Given the description of an element on the screen output the (x, y) to click on. 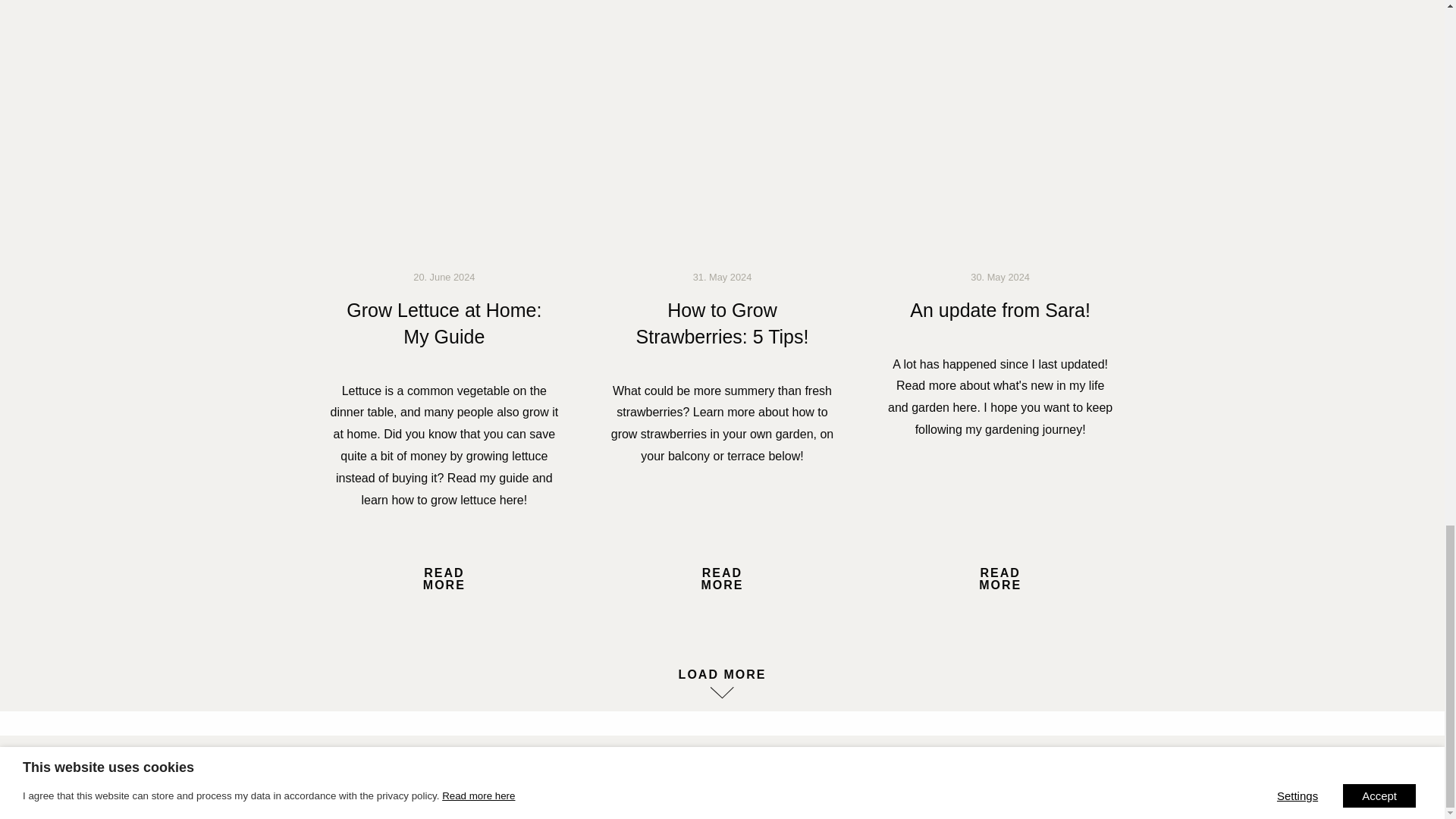
PODCAST (1034, 776)
LOAD MORE (721, 674)
YOUTUBE (617, 776)
FACEBOOK (409, 776)
INSTAGRAM (826, 776)
